Given the description of an element on the screen output the (x, y) to click on. 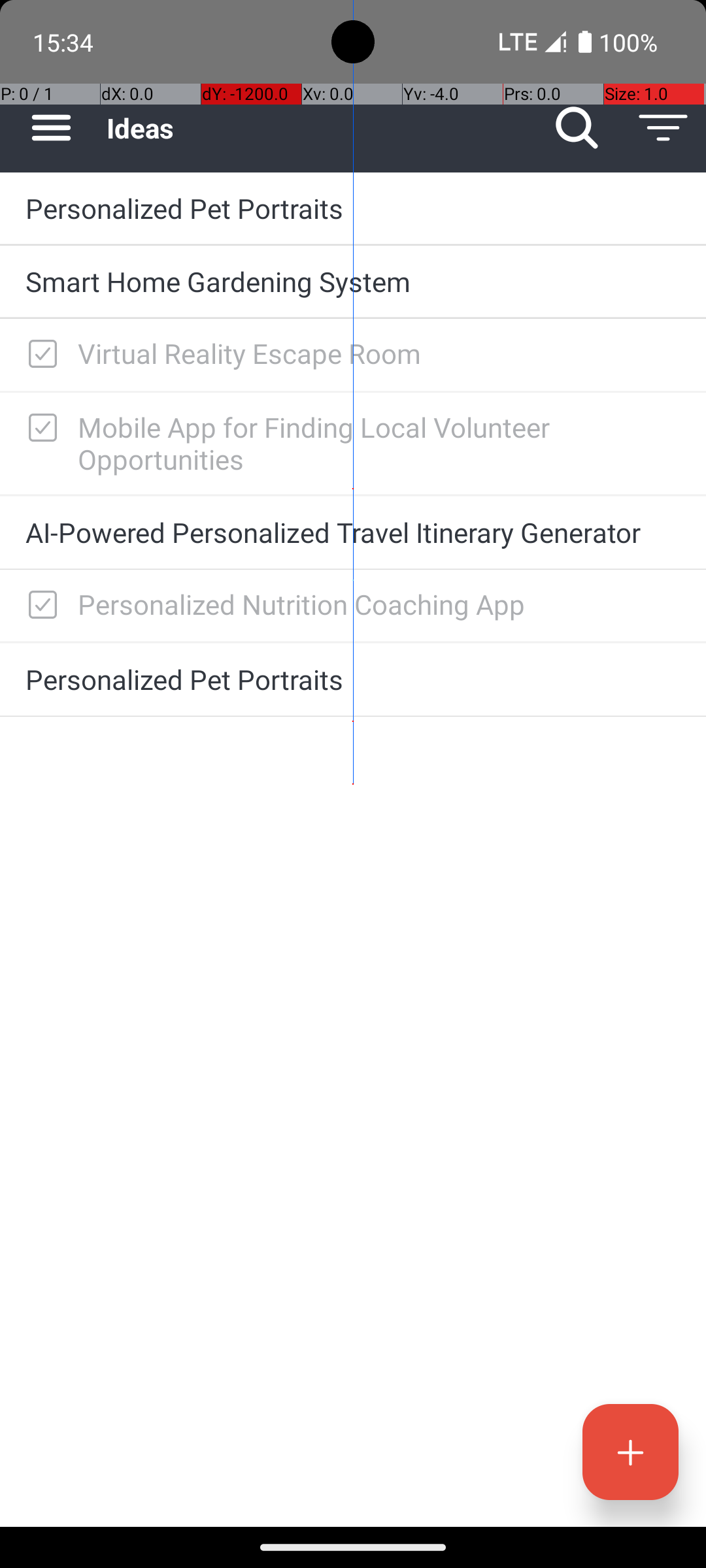
Personalized Pet Portraits Element type: android.widget.TextView (352, 207)
Smart Home Gardening System Element type: android.widget.TextView (352, 280)
to-do: Virtual Reality Escape Room Element type: android.widget.CheckBox (38, 354)
Virtual Reality Escape Room Element type: android.widget.TextView (378, 352)
to-do: Mobile App for Finding Local Volunteer Opportunities Element type: android.widget.CheckBox (38, 428)
Mobile App for Finding Local Volunteer Opportunities Element type: android.widget.TextView (378, 442)
AI-Powered Personalized Travel Itinerary Generator Element type: android.widget.TextView (352, 531)
to-do: Personalized Nutrition Coaching App Element type: android.widget.CheckBox (38, 605)
Personalized Nutrition Coaching App Element type: android.widget.TextView (378, 603)
